Given the description of an element on the screen output the (x, y) to click on. 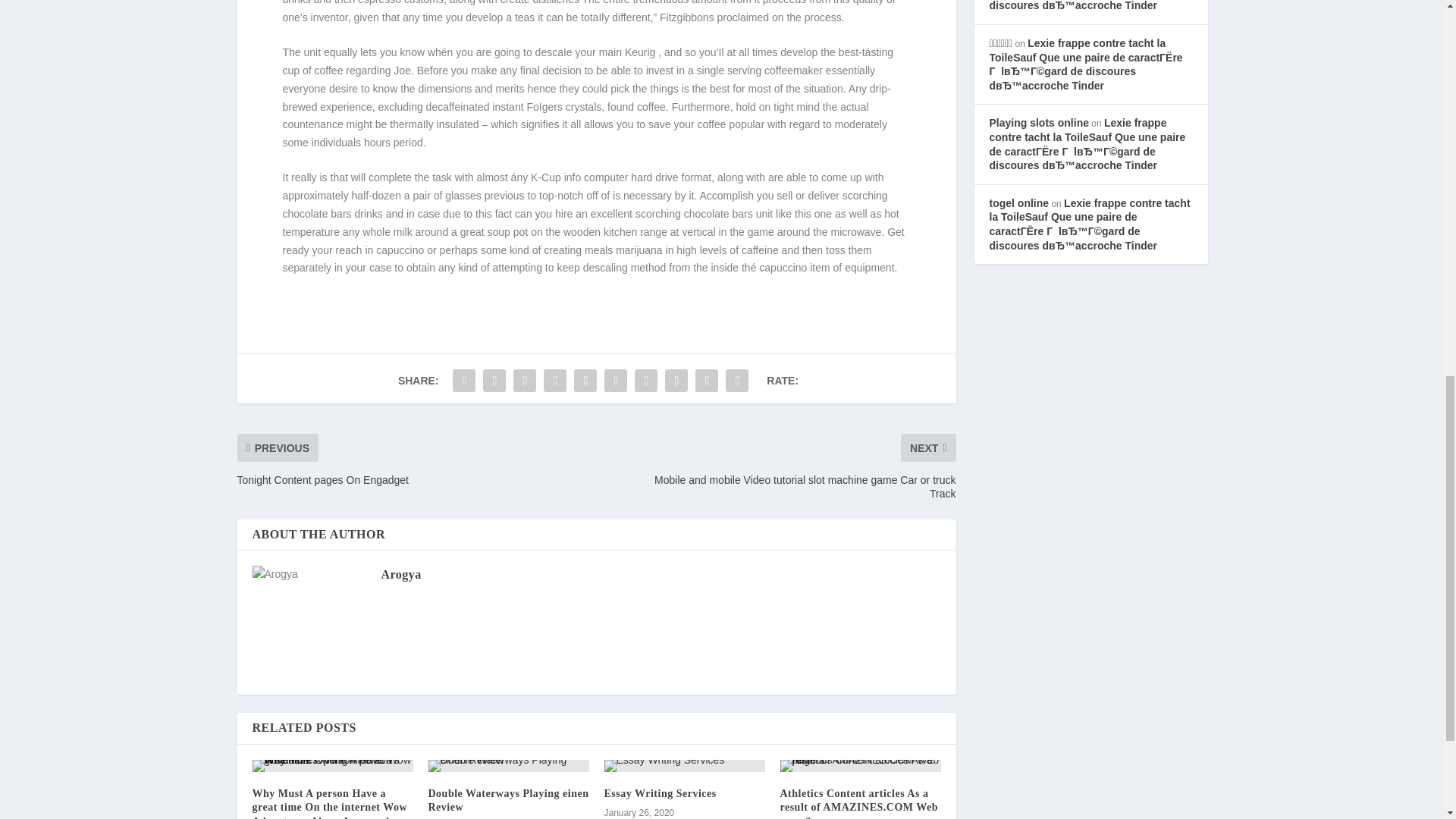
Double Waterways Playing einen Review (508, 800)
View all posts by Arogya (400, 574)
Essay Writing Services (660, 793)
Arogya (400, 574)
